Given the description of an element on the screen output the (x, y) to click on. 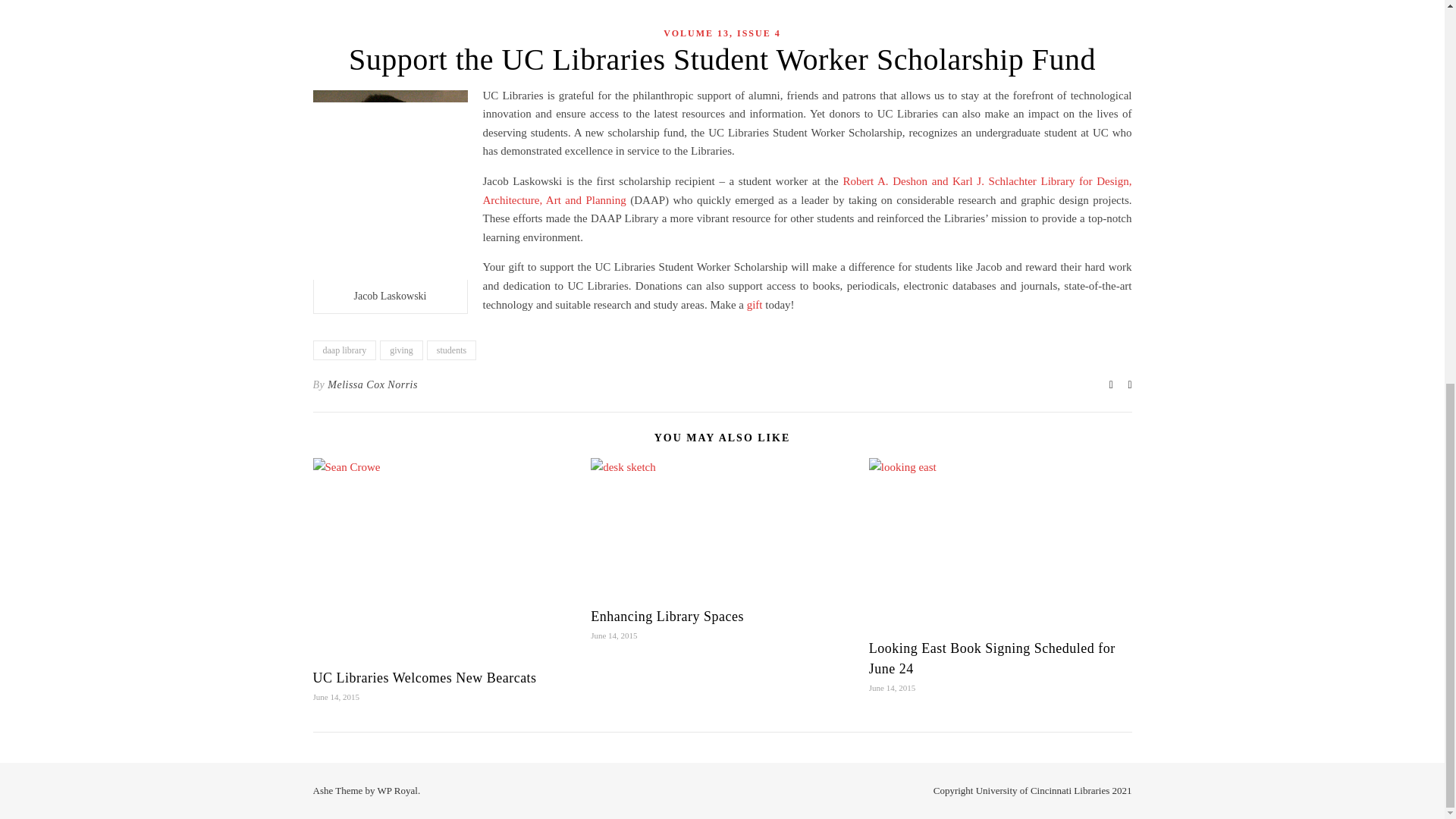
Posts by Melissa Cox Norris (372, 384)
